Given the description of an element on the screen output the (x, y) to click on. 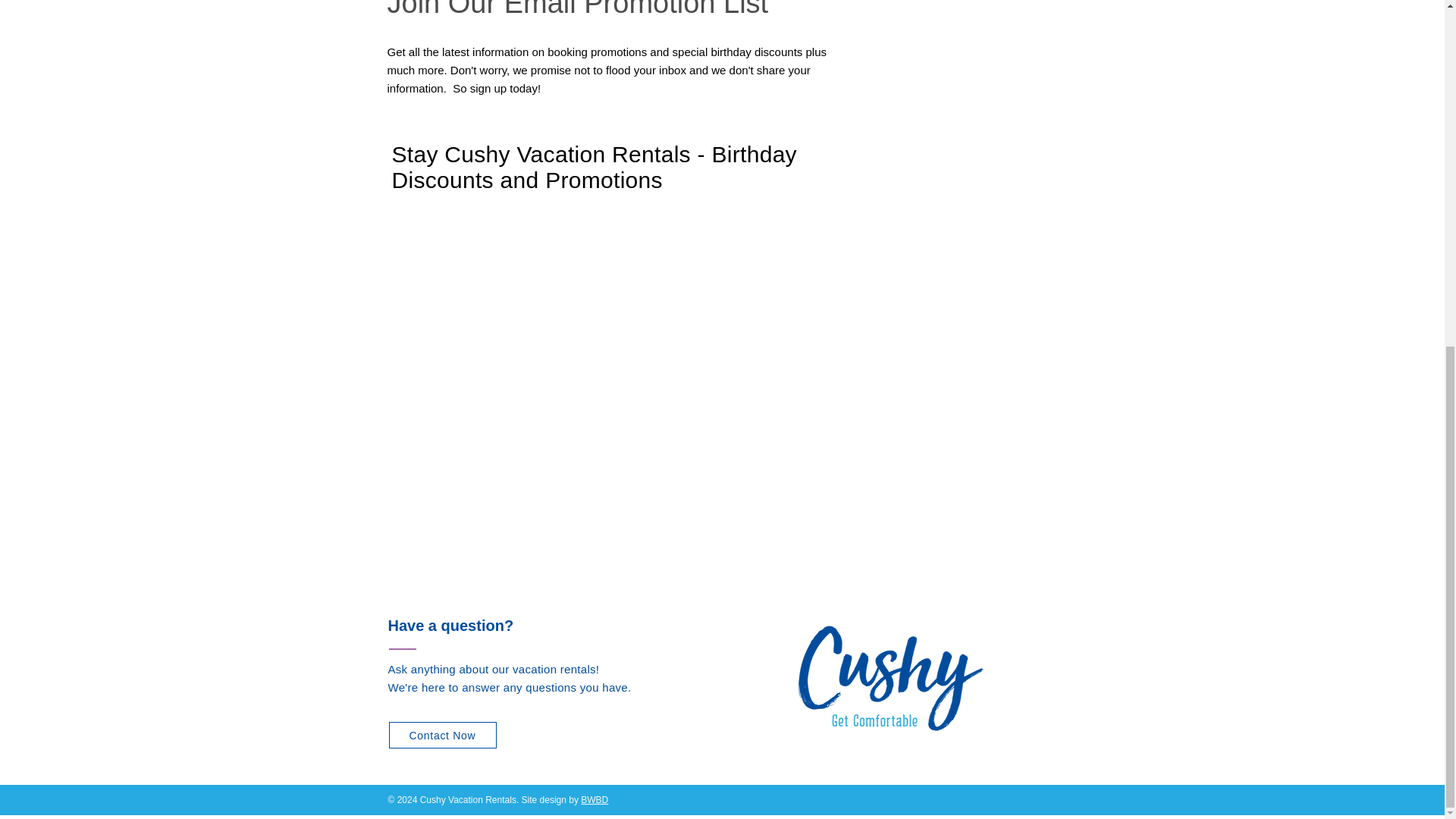
Have a question? (450, 625)
BWBD (594, 799)
Contact Now (442, 734)
